Given the description of an element on the screen output the (x, y) to click on. 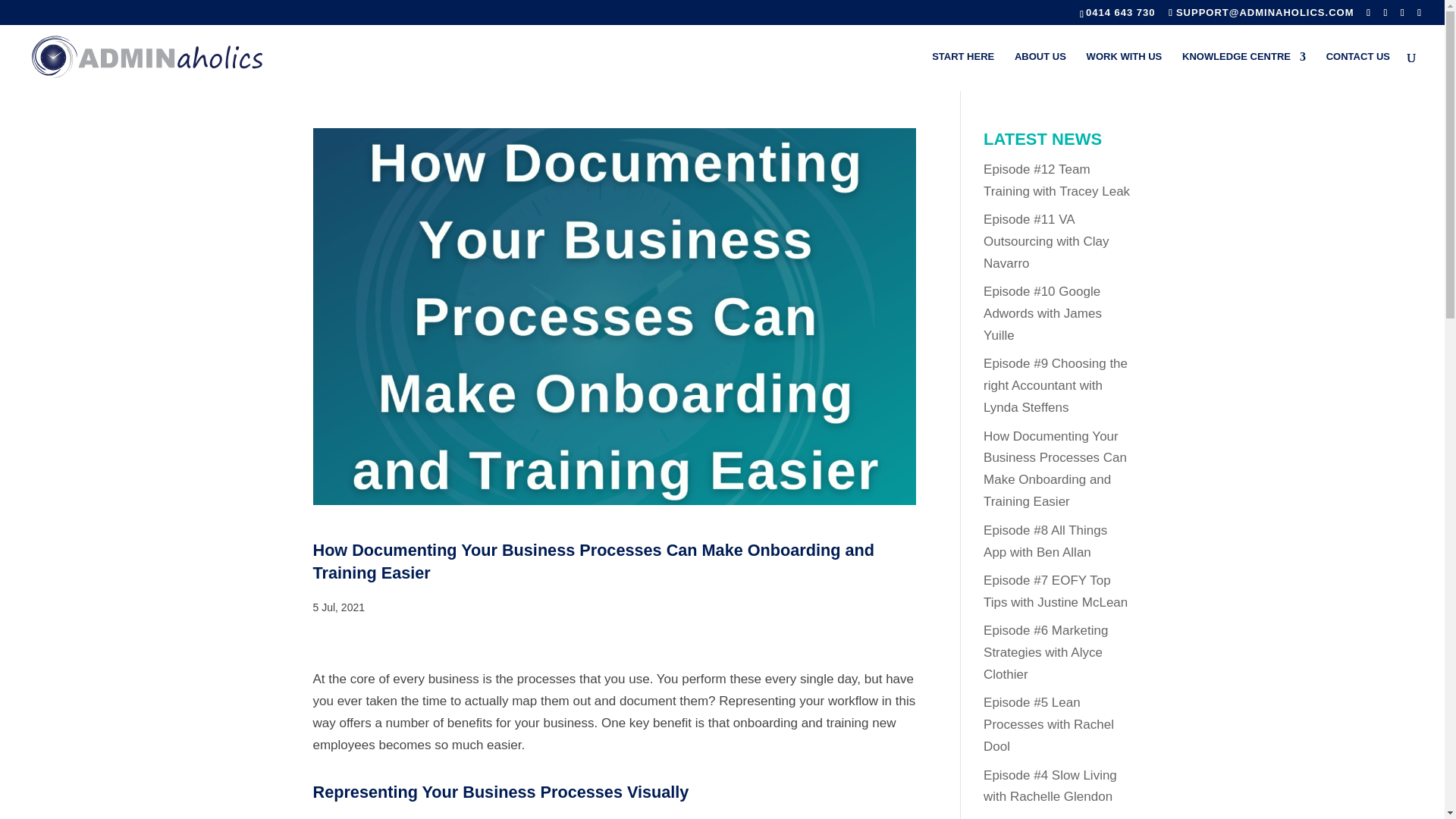
CONTACT US (1358, 70)
ABOUT US (1039, 70)
WORK WITH US (1123, 70)
START HERE (962, 70)
KNOWLEDGE CENTRE (1244, 70)
